Given the description of an element on the screen output the (x, y) to click on. 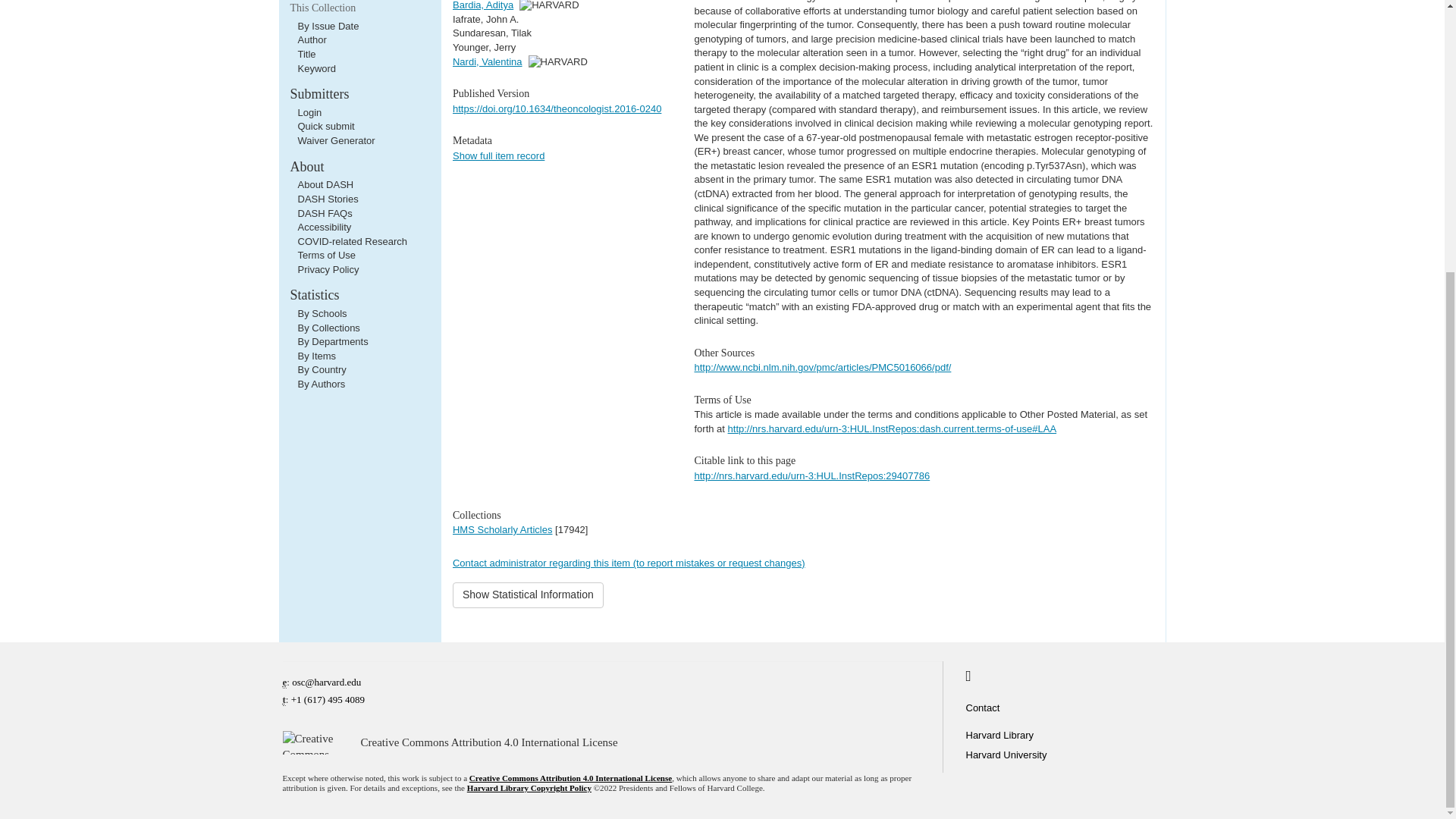
By Issue Date (327, 25)
HARVARD AFFILIATED (548, 5)
Quick submit (325, 125)
HARVARD AFFILIATED (558, 61)
Keyword (316, 68)
Author (311, 39)
Waiver Generator (335, 140)
Title (306, 53)
Login (309, 112)
